Given the description of an element on the screen output the (x, y) to click on. 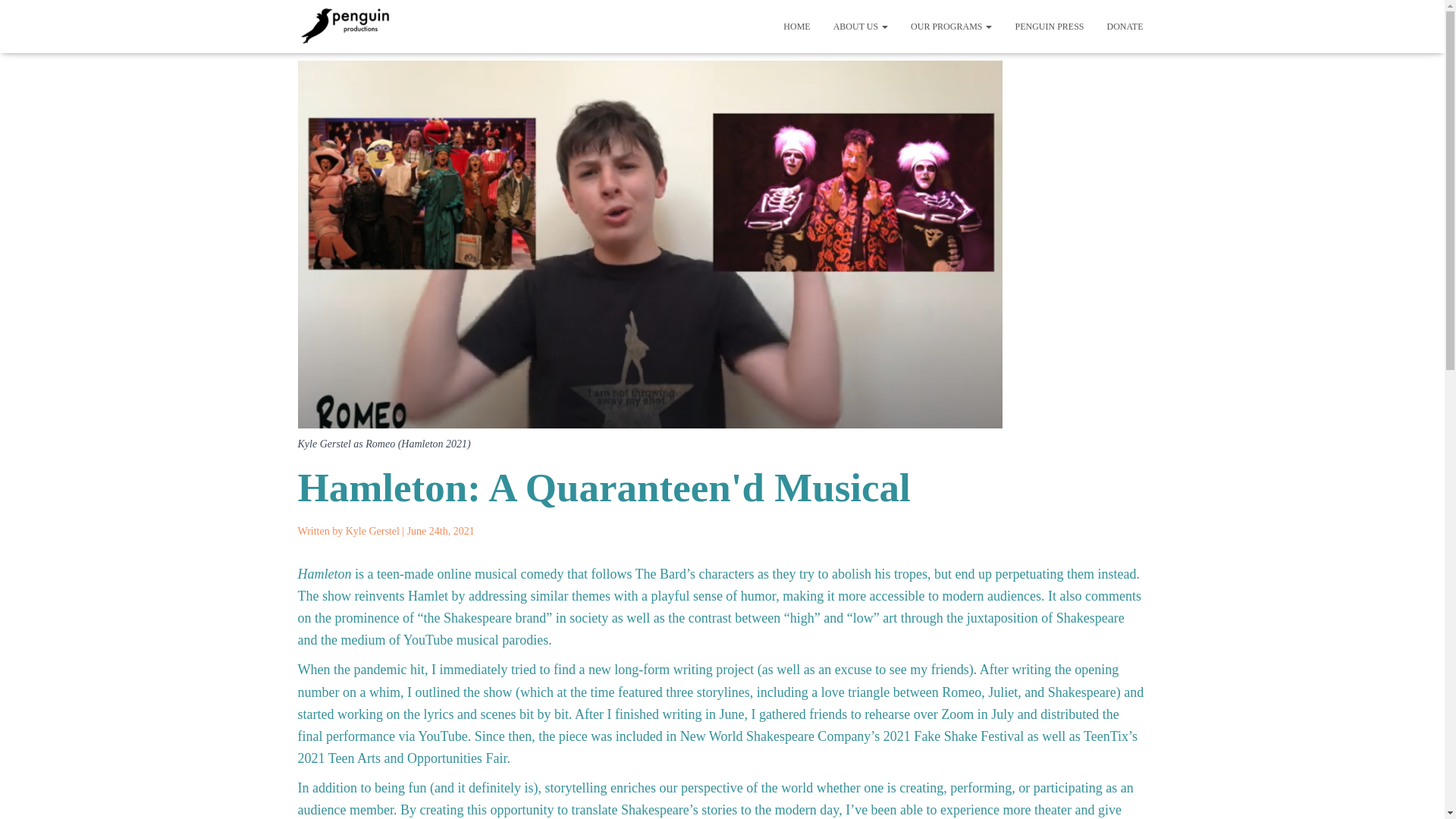
HOME (796, 26)
Home (796, 26)
DONATE (1124, 26)
Penguin Productions Seattle (344, 26)
About Us (860, 26)
Penguin Press (1048, 26)
PENGUIN PRESS (1048, 26)
ABOUT US (860, 26)
Our Programs (951, 26)
OUR PROGRAMS (951, 26)
